Given the description of an element on the screen output the (x, y) to click on. 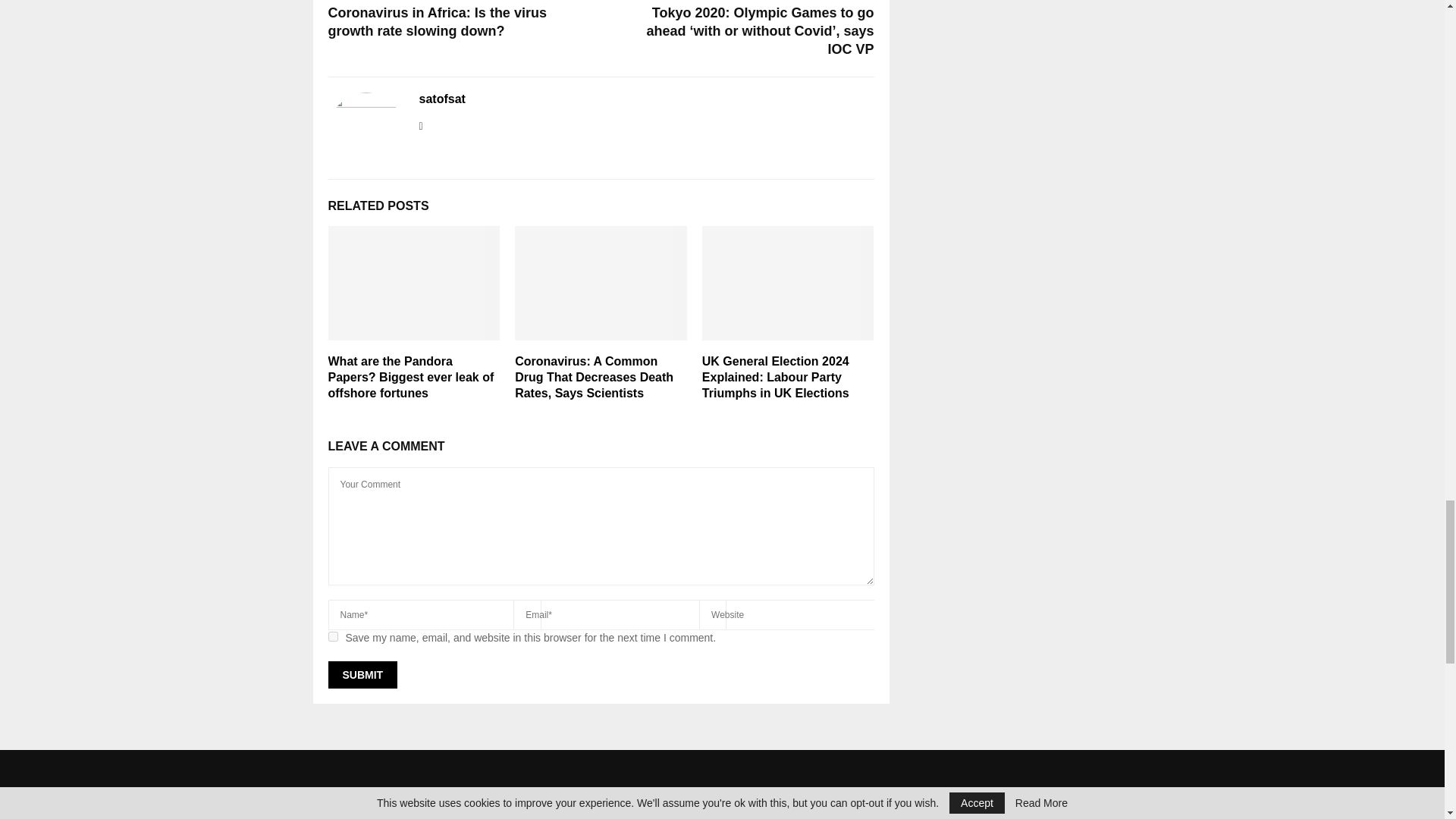
Submit (362, 674)
yes (332, 636)
